Given the description of an element on the screen output the (x, y) to click on. 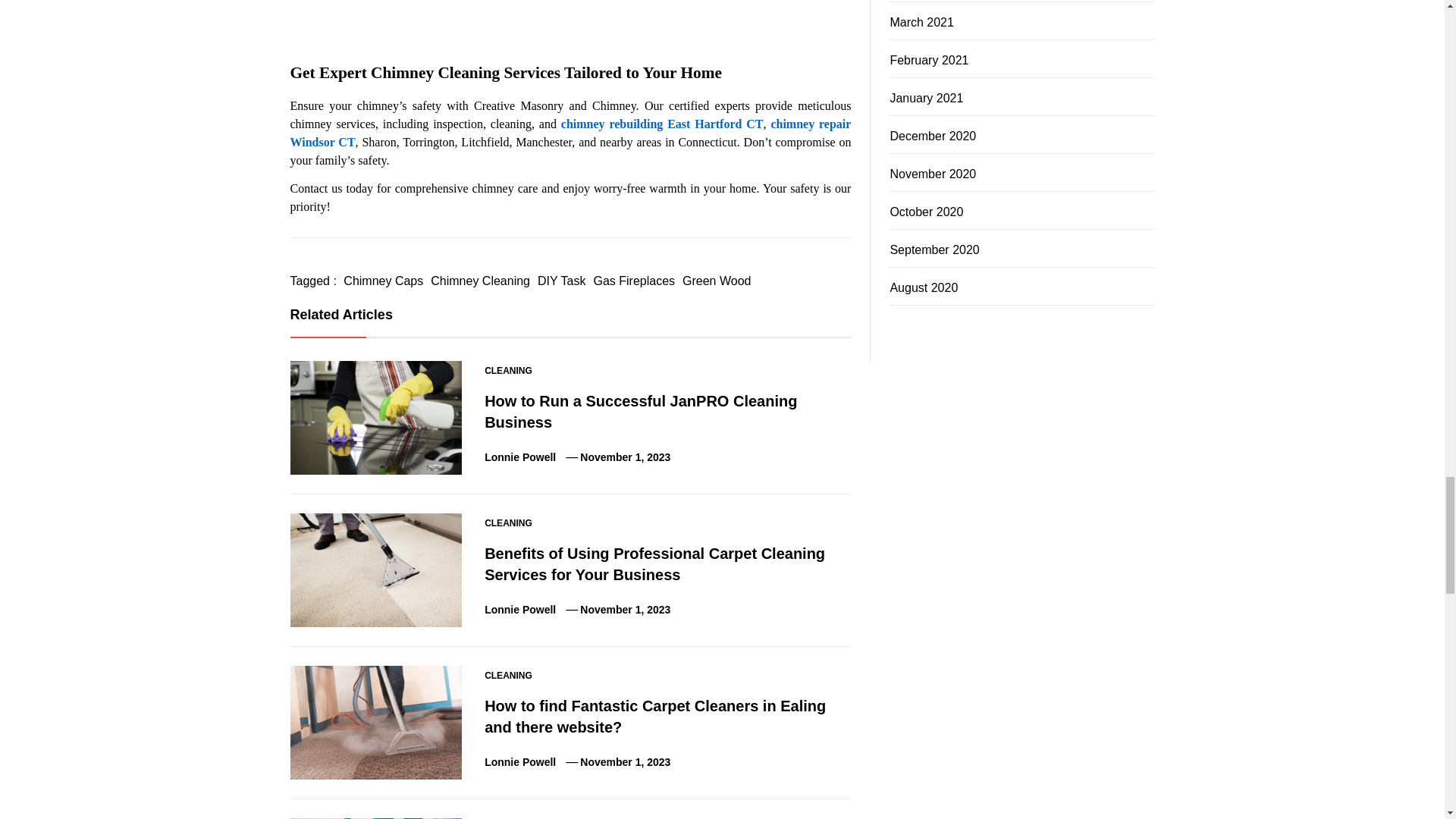
Gas Fireplaces (633, 280)
chimney rebuilding East Hartford CT (661, 123)
DIY Task (561, 280)
Chimney Caps (382, 280)
chimney repair Windsor CT (571, 132)
Green Wood (716, 280)
November 1, 2023 (624, 457)
Chimney Cleaning (480, 280)
CLEANING (508, 370)
Lonnie Powell (520, 457)
How to Run a Successful JanPRO Cleaning Business (640, 411)
